Given the description of an element on the screen output the (x, y) to click on. 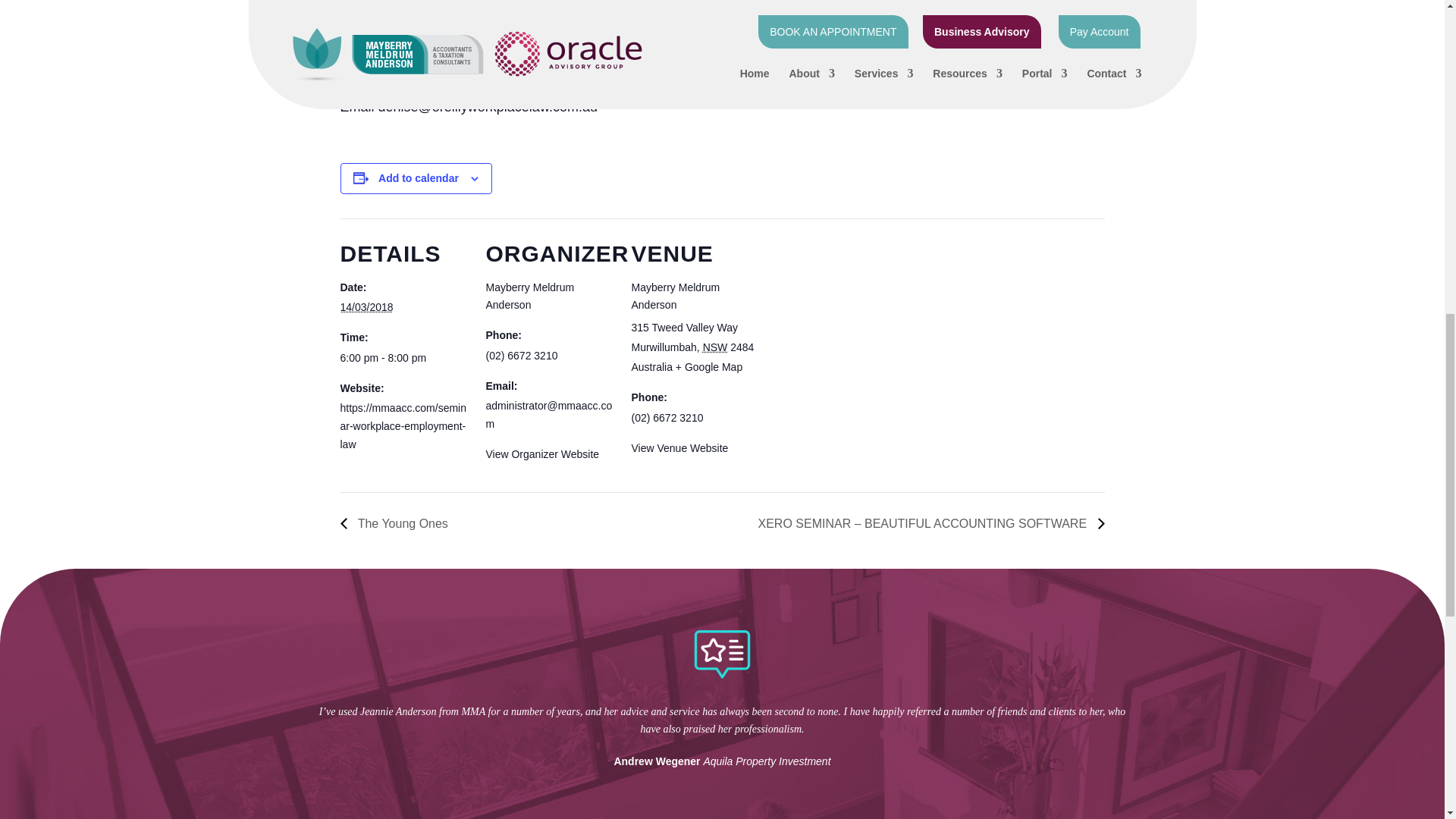
Click to view a Google Map (708, 367)
Mayberry Meldrum Anderson (528, 296)
2018-03-14 (403, 358)
2018-03-14 (366, 306)
Add to calendar (418, 177)
View Organizer Website (541, 453)
icon (722, 654)
NSW (715, 346)
Mayberry Meldrum Anderson (528, 296)
